Given the description of an element on the screen output the (x, y) to click on. 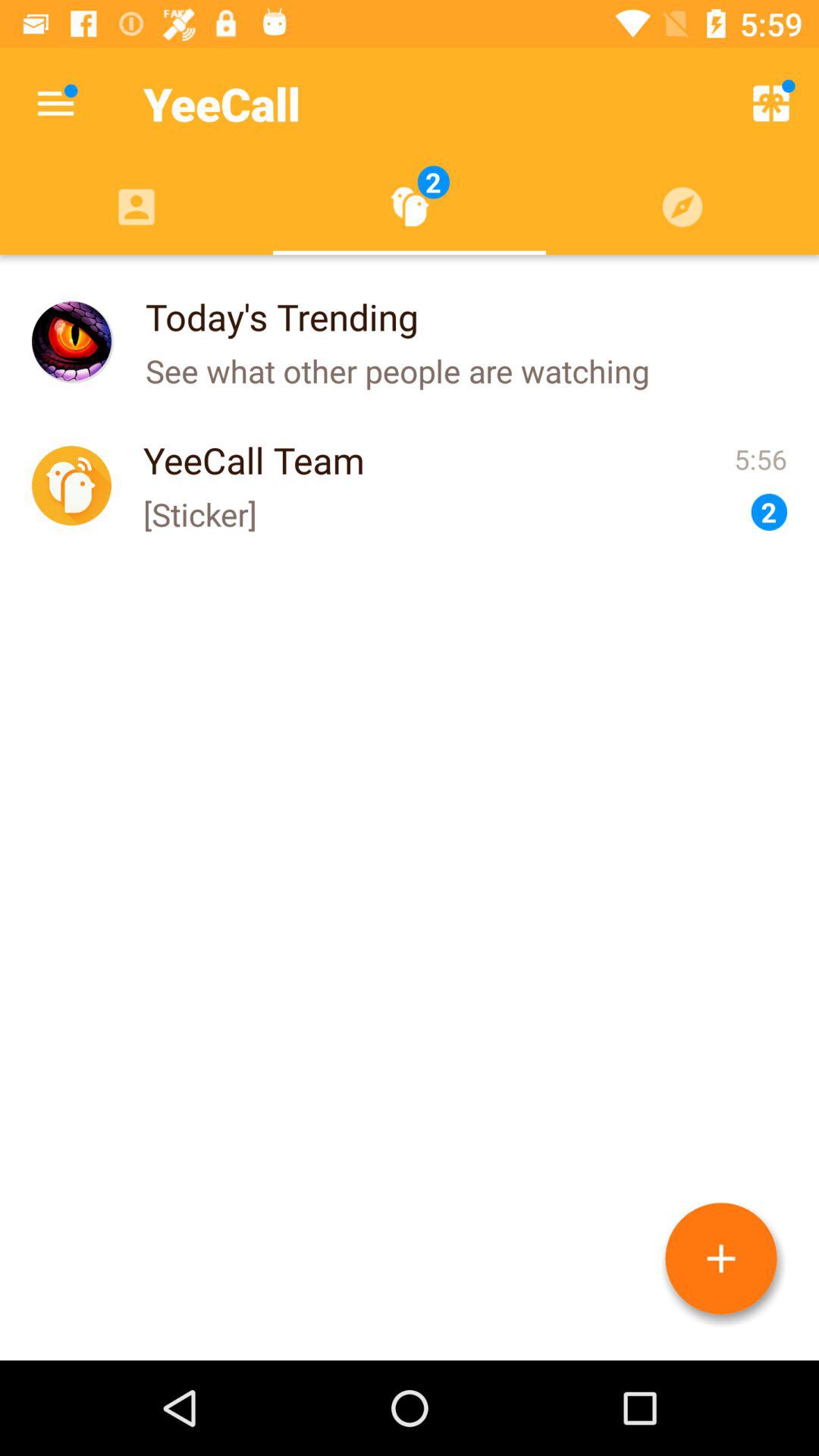
new yeecall (721, 1258)
